Given the description of an element on the screen output the (x, y) to click on. 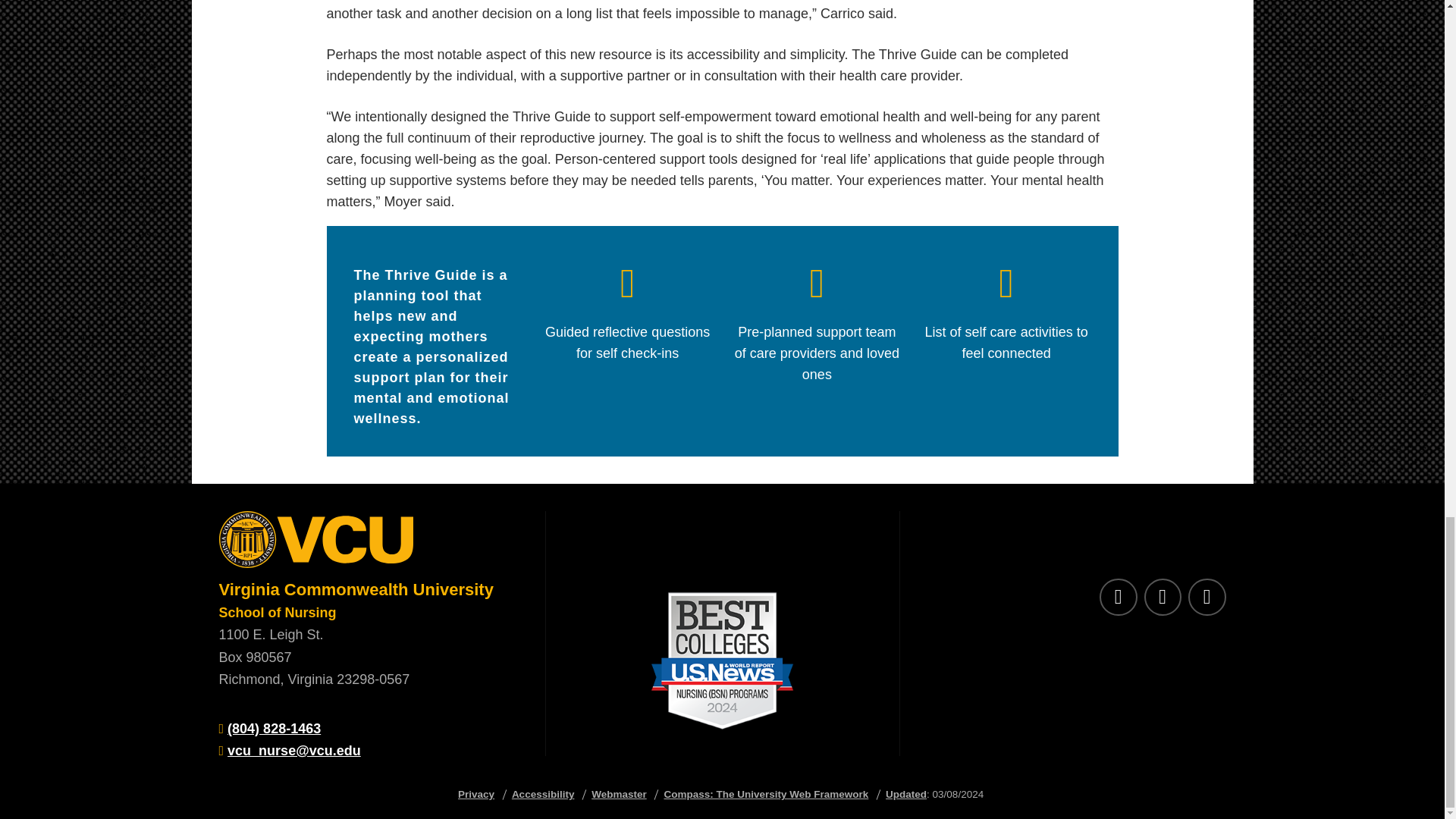
Instagram (1206, 597)
Contact us by email (294, 750)
Accessibility at VCU (543, 794)
Linkedin (1118, 597)
Contact the VCU webmaster (618, 794)
Contact us by telephone (273, 728)
Virginia Commonwealth University (355, 588)
Facebook (1161, 597)
Virginia Commonwealth University seal (367, 544)
VCU privacy statement (476, 794)
